Given the description of an element on the screen output the (x, y) to click on. 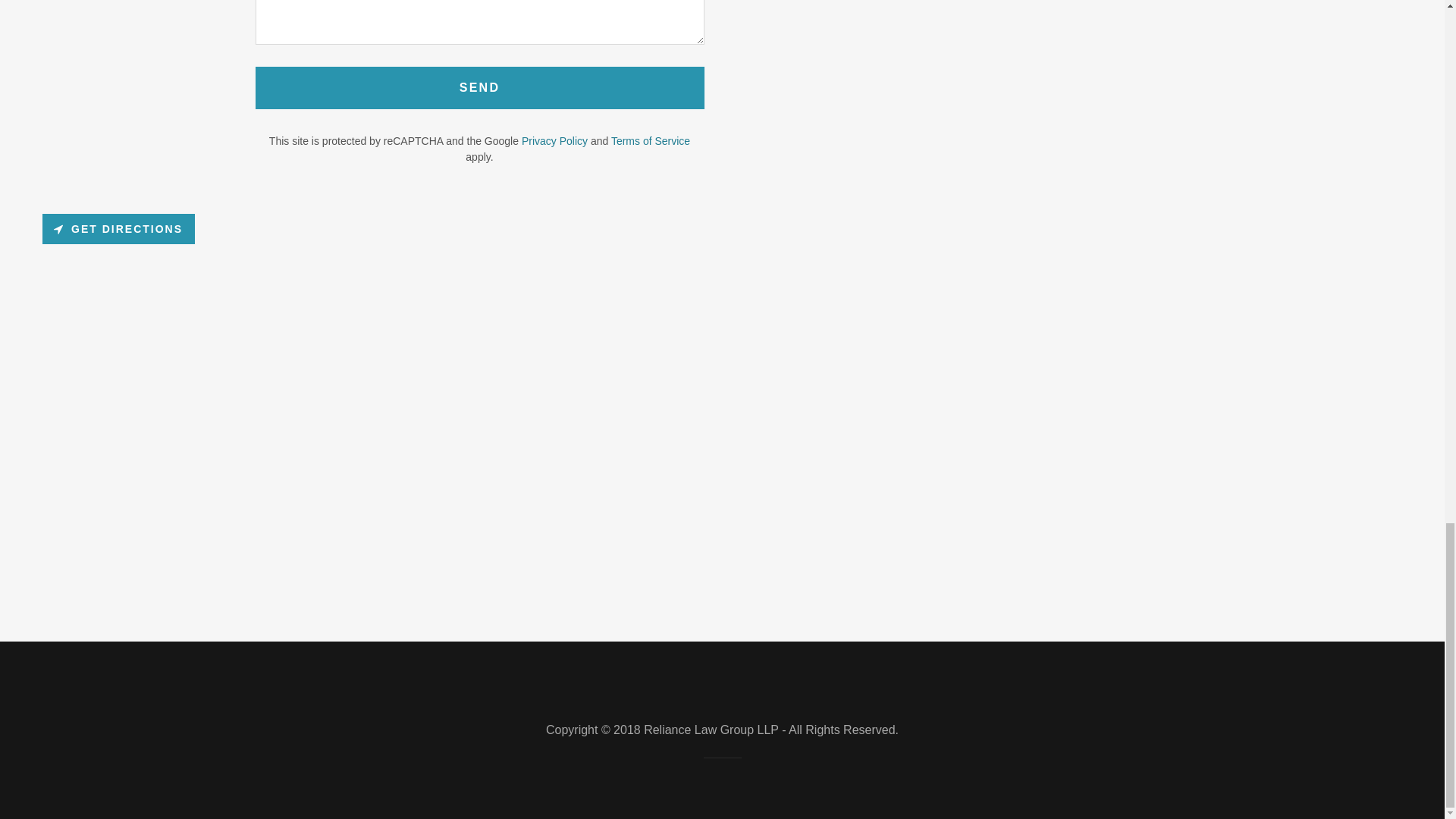
SEND (478, 87)
Privacy Policy (554, 141)
Terms of Service (650, 141)
GET DIRECTIONS (118, 228)
